Given the description of an element on the screen output the (x, y) to click on. 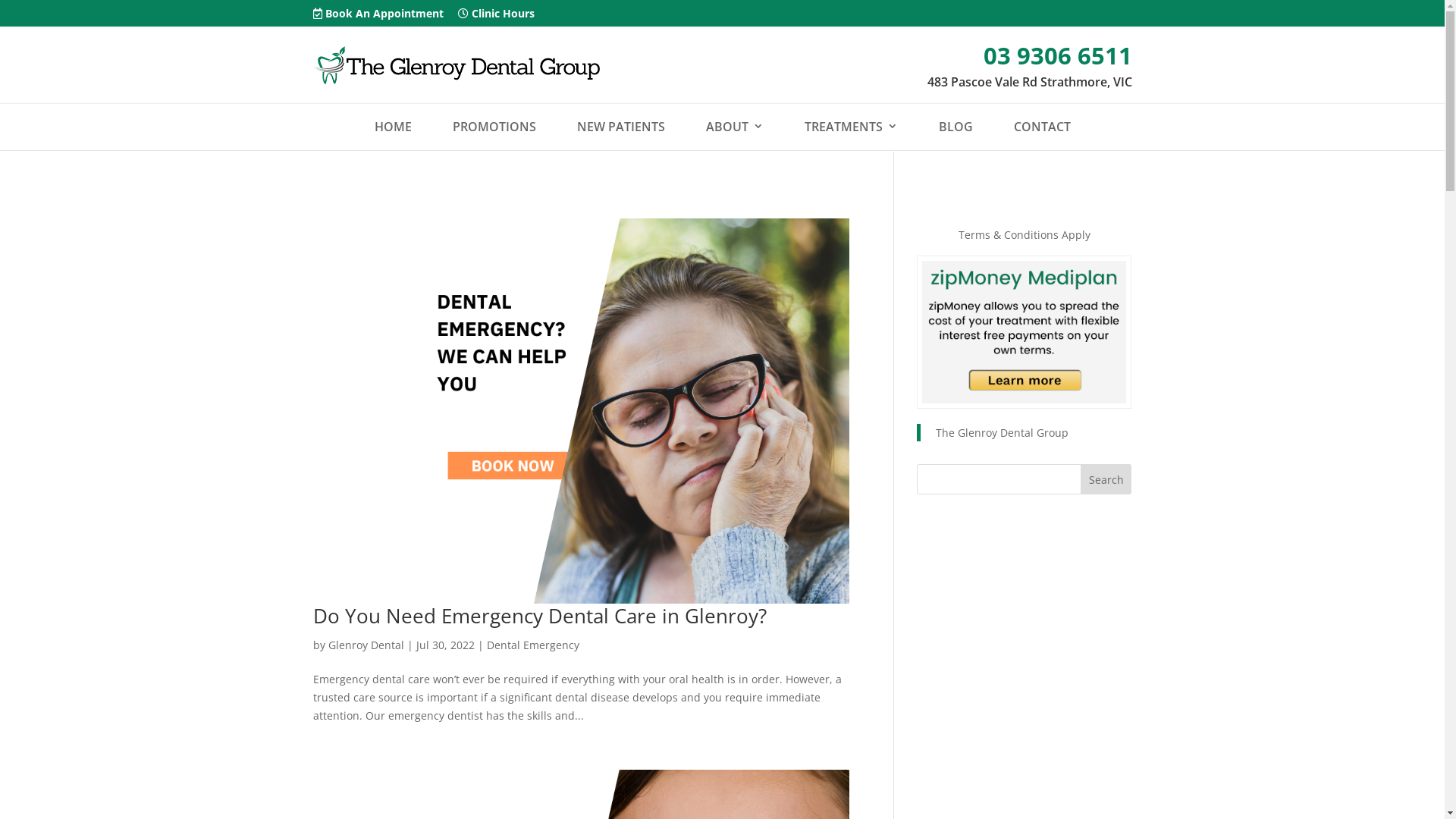
HOME Element type: text (392, 126)
PROMOTIONS Element type: text (493, 126)
ABOUT Element type: text (733, 126)
Book An Appointment Element type: text (377, 16)
Terms & Conditions Apply Element type: text (1023, 234)
03 9306 6511 Element type: text (1042, 55)
Search Element type: text (1106, 479)
TREATMENTS Element type: text (850, 126)
BLOG Element type: text (955, 126)
Glenroy Dental Element type: text (365, 644)
NEW PATIENTS Element type: text (620, 126)
CONTACT Element type: text (1041, 126)
Do You Need Emergency Dental Care in Glenroy? Element type: text (538, 615)
The Glenroy Dental Group Element type: text (1001, 432)
Dental Emergency Element type: text (532, 644)
Clinic Hours Element type: text (496, 16)
